Given the description of an element on the screen output the (x, y) to click on. 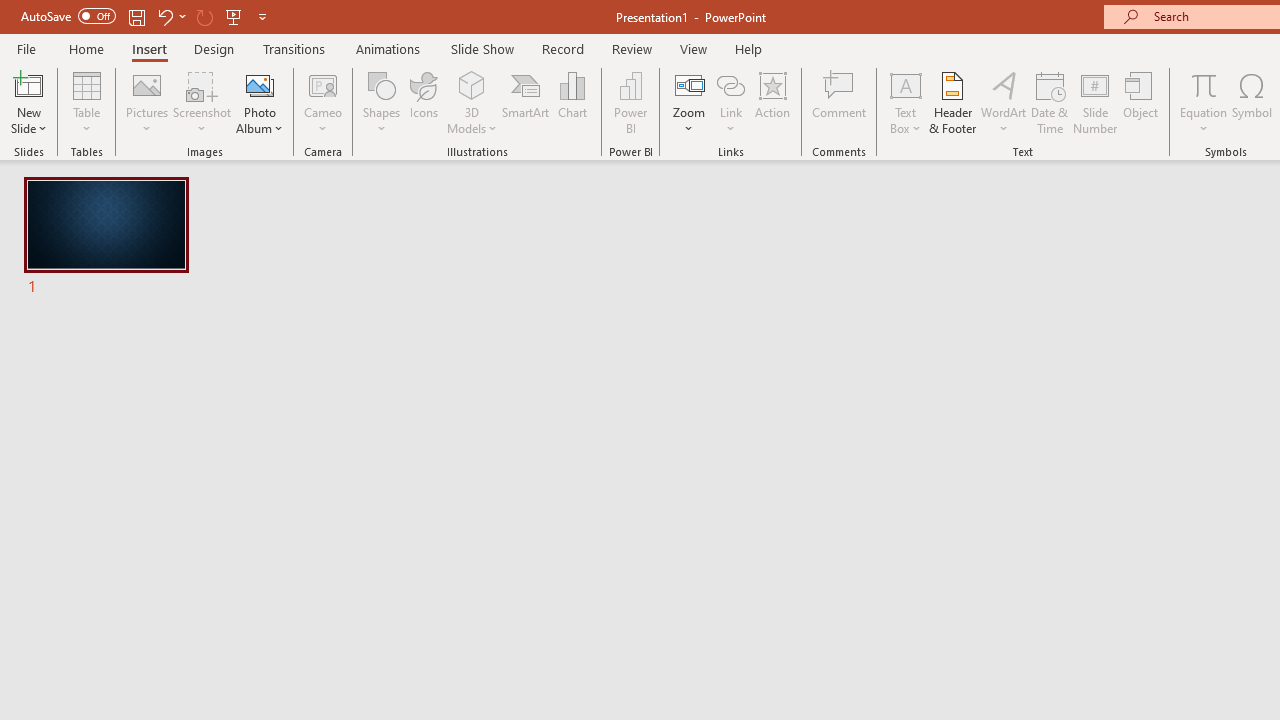
Symbol... (1252, 102)
New Slide (28, 84)
Pictures (147, 102)
Action (772, 102)
3D Models (472, 84)
Cameo (323, 102)
Object... (1141, 102)
Equation (1203, 84)
Screenshot (202, 102)
SmartArt... (525, 102)
WordArt (1004, 102)
